Given the description of an element on the screen output the (x, y) to click on. 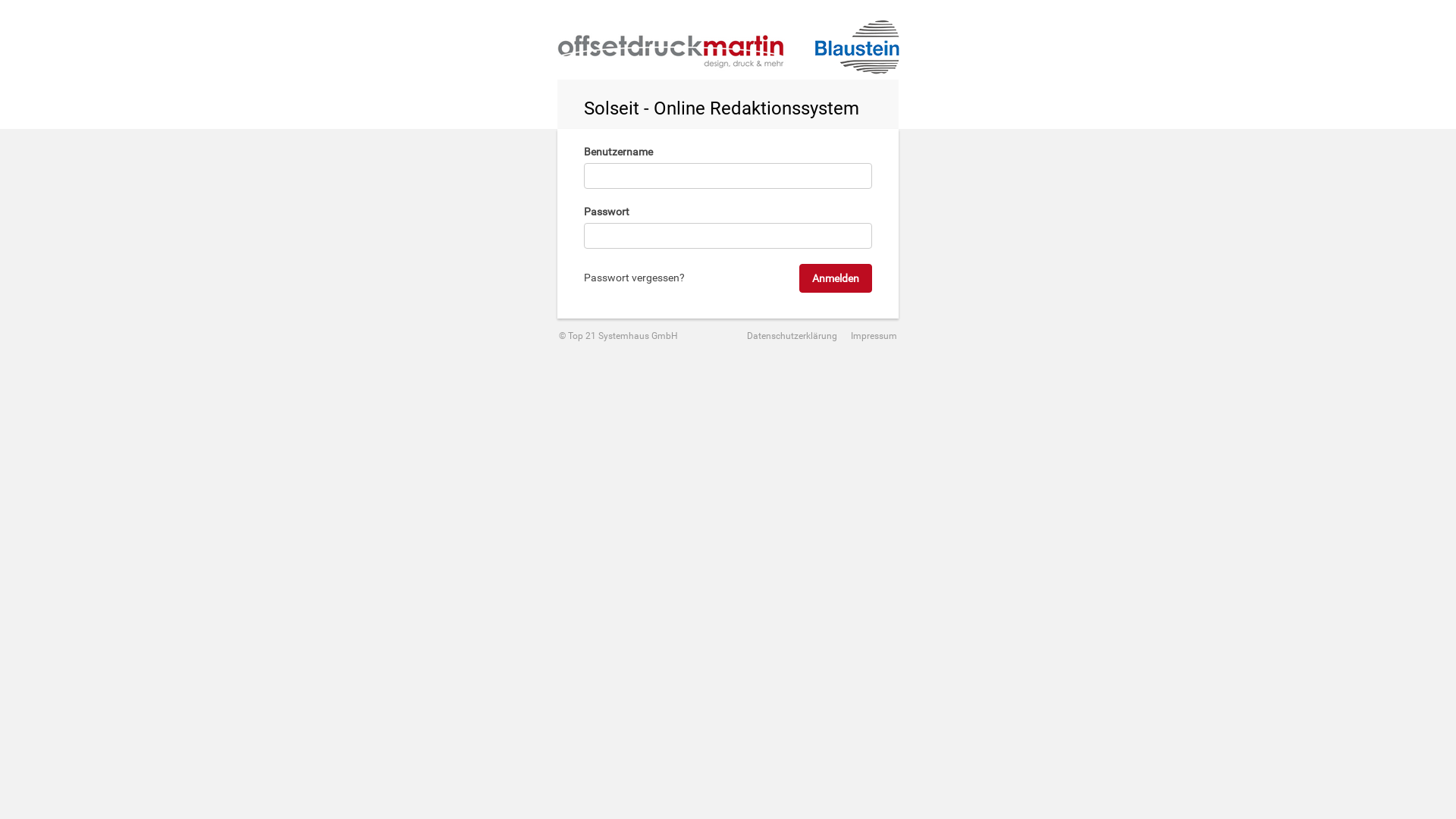
Impressum Element type: text (868, 335)
Anmelden Element type: text (835, 277)
Passwort vergessen? Element type: text (633, 277)
